Given the description of an element on the screen output the (x, y) to click on. 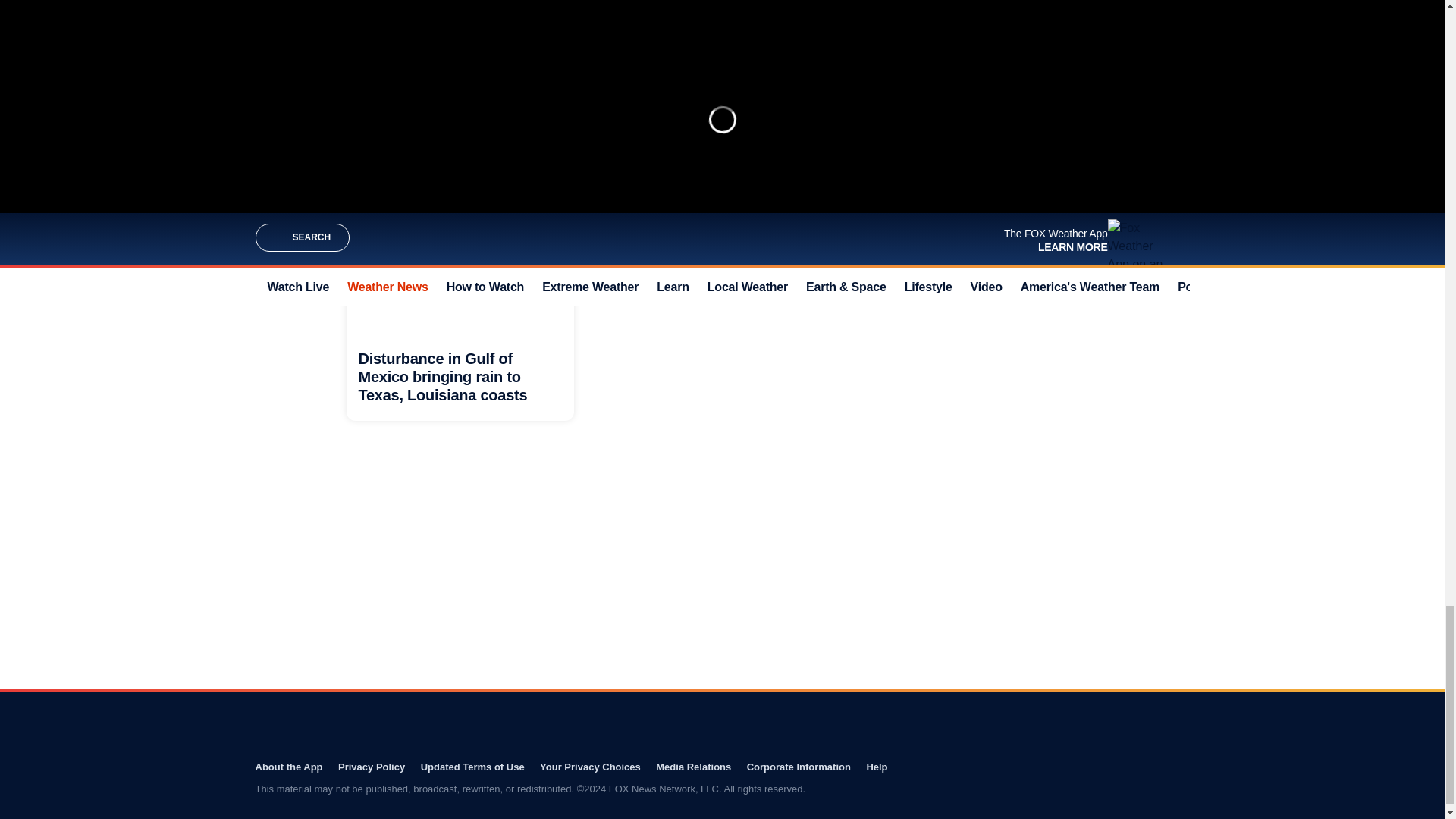
FLORIDA (699, 237)
LIGHTNING (644, 237)
THUNDERSTORMS (769, 237)
